Given the description of an element on the screen output the (x, y) to click on. 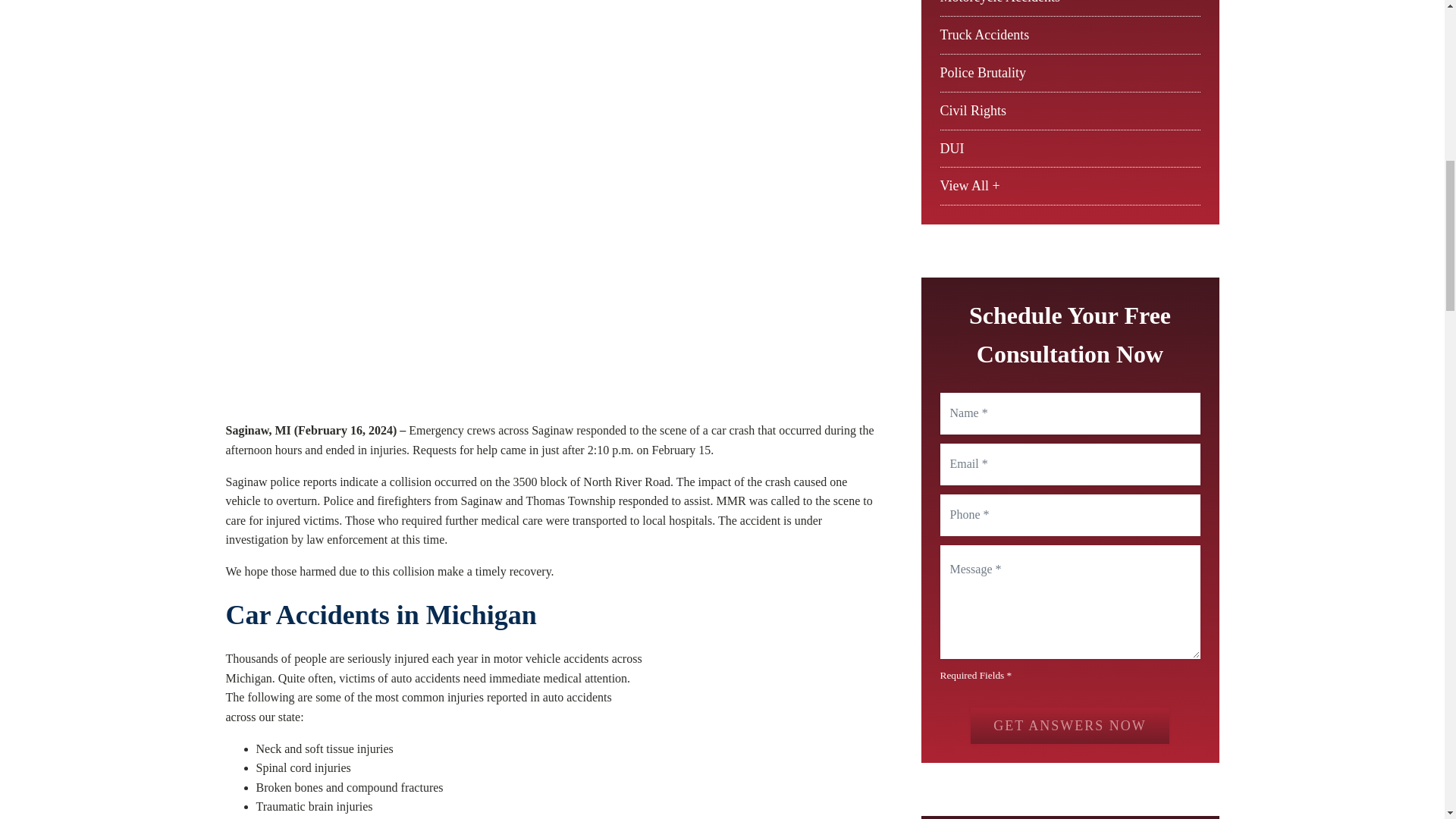
Truck Accidents (984, 34)
Get Answers Now (1070, 725)
Police Brutality (983, 72)
Get Answers Now (1070, 725)
DUI (951, 148)
Motorcycle Accidents (999, 2)
Civil Rights (973, 110)
